Given the description of an element on the screen output the (x, y) to click on. 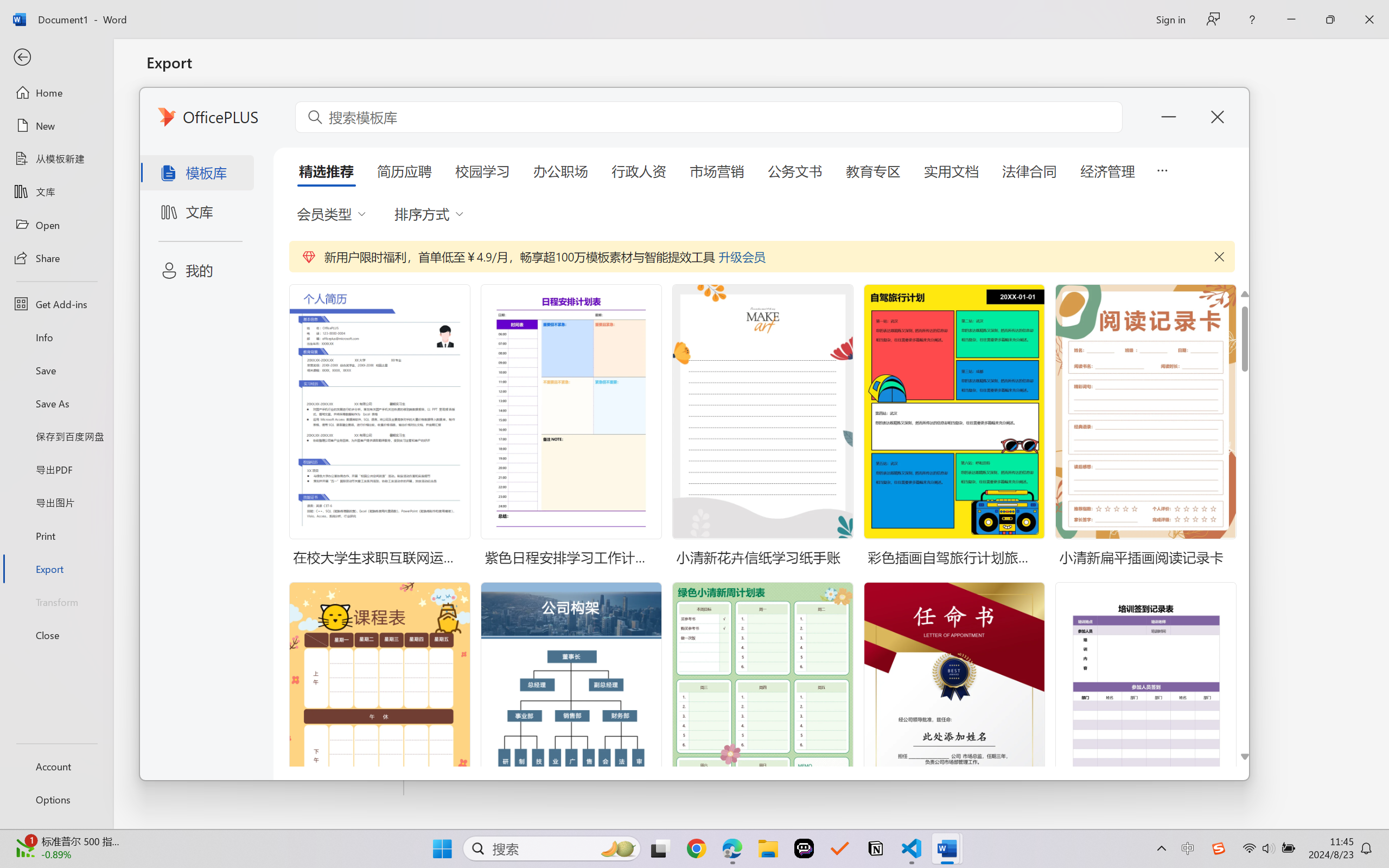
Account (56, 765)
Sign in (1170, 18)
